Given the description of an element on the screen output the (x, y) to click on. 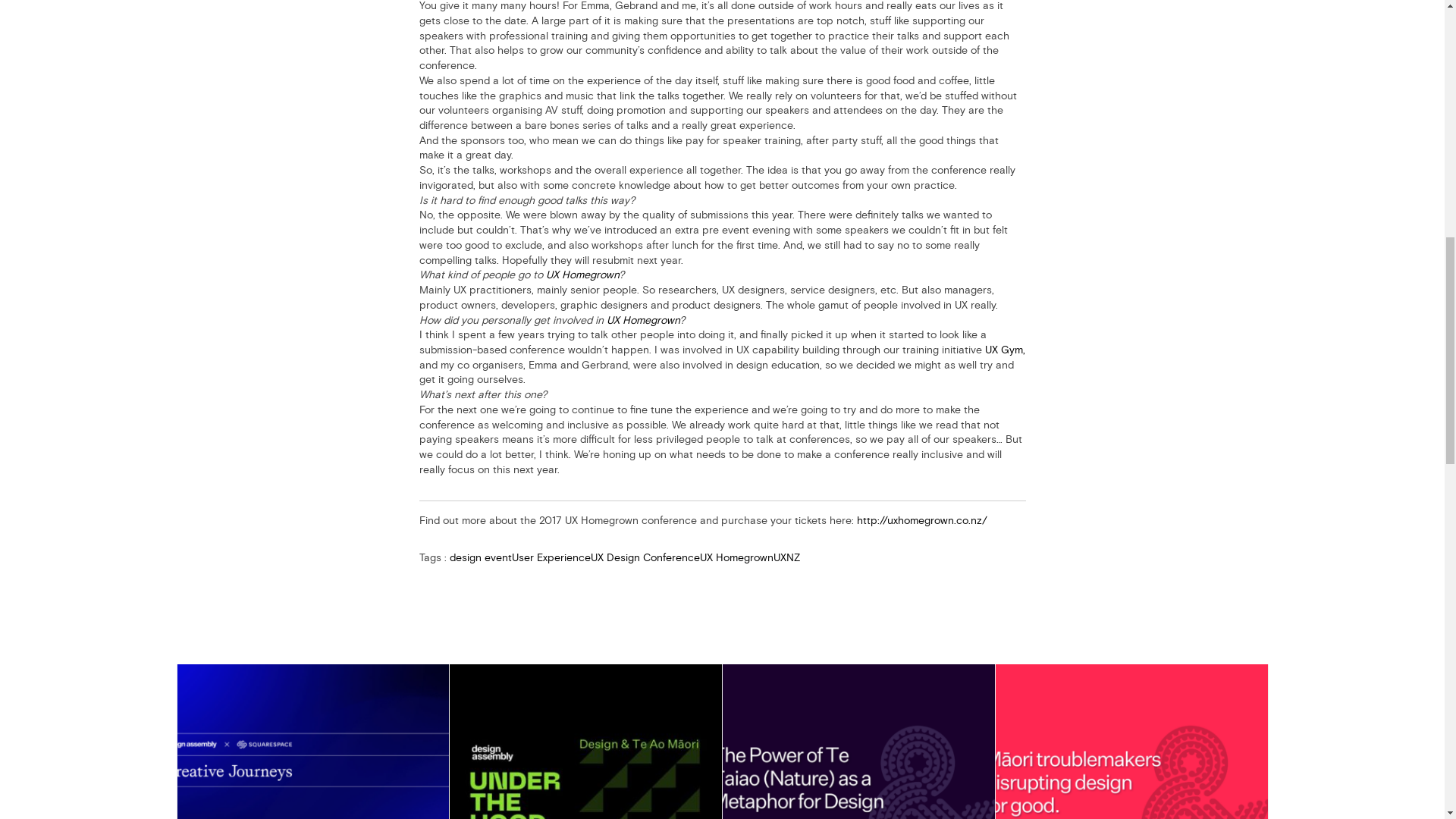
UX Homegrown (643, 319)
design event (479, 557)
UX Homegrown (582, 274)
UX Design Conference (643, 557)
UXNZ (786, 557)
UX Gym, (1004, 349)
User Experience (550, 557)
UX Homegrown (735, 557)
